Given the description of an element on the screen output the (x, y) to click on. 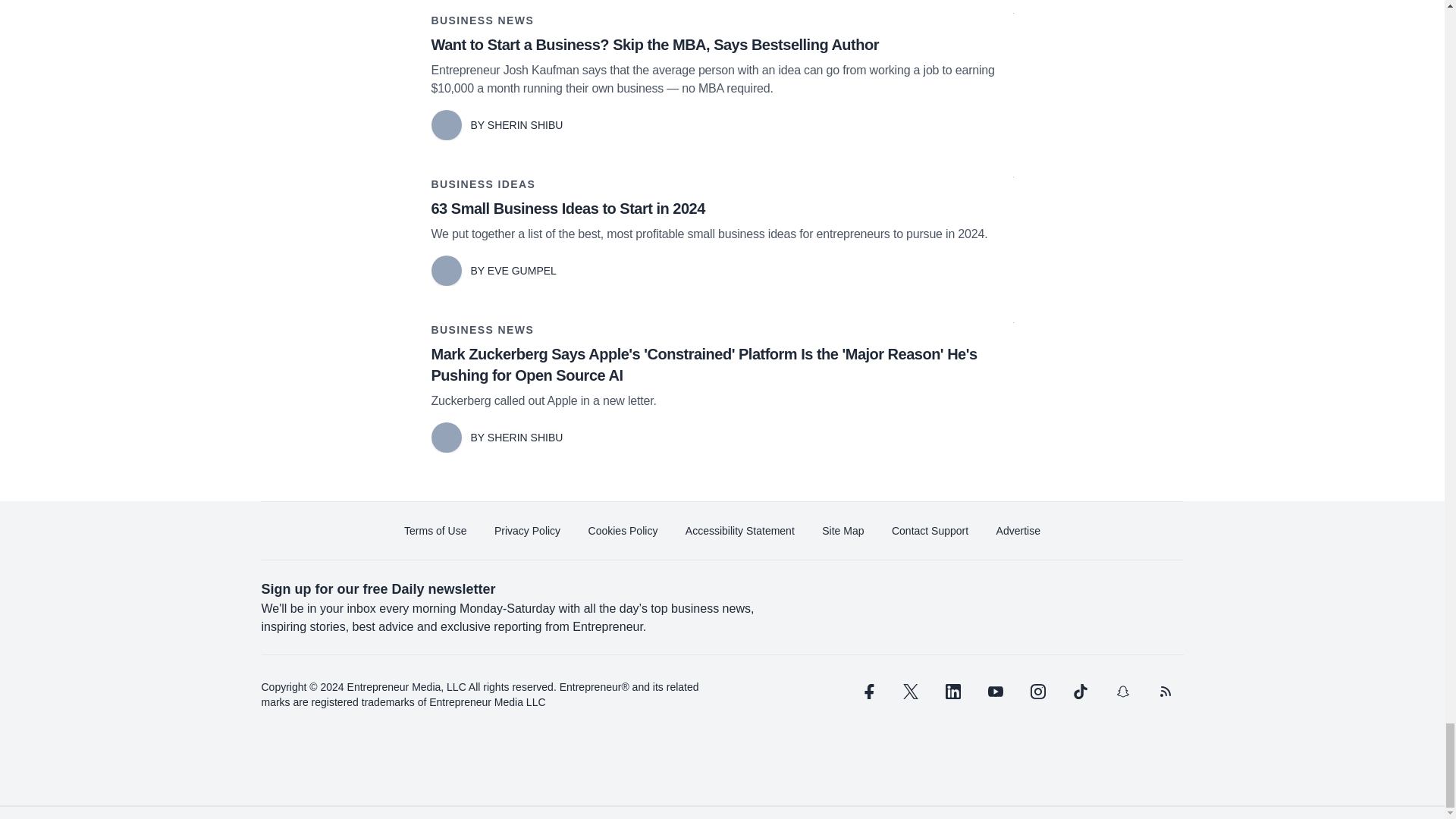
linkedin (952, 691)
facebook (866, 691)
instagram (1037, 691)
twitter (909, 691)
youtube (994, 691)
tiktok (1079, 691)
